Given the description of an element on the screen output the (x, y) to click on. 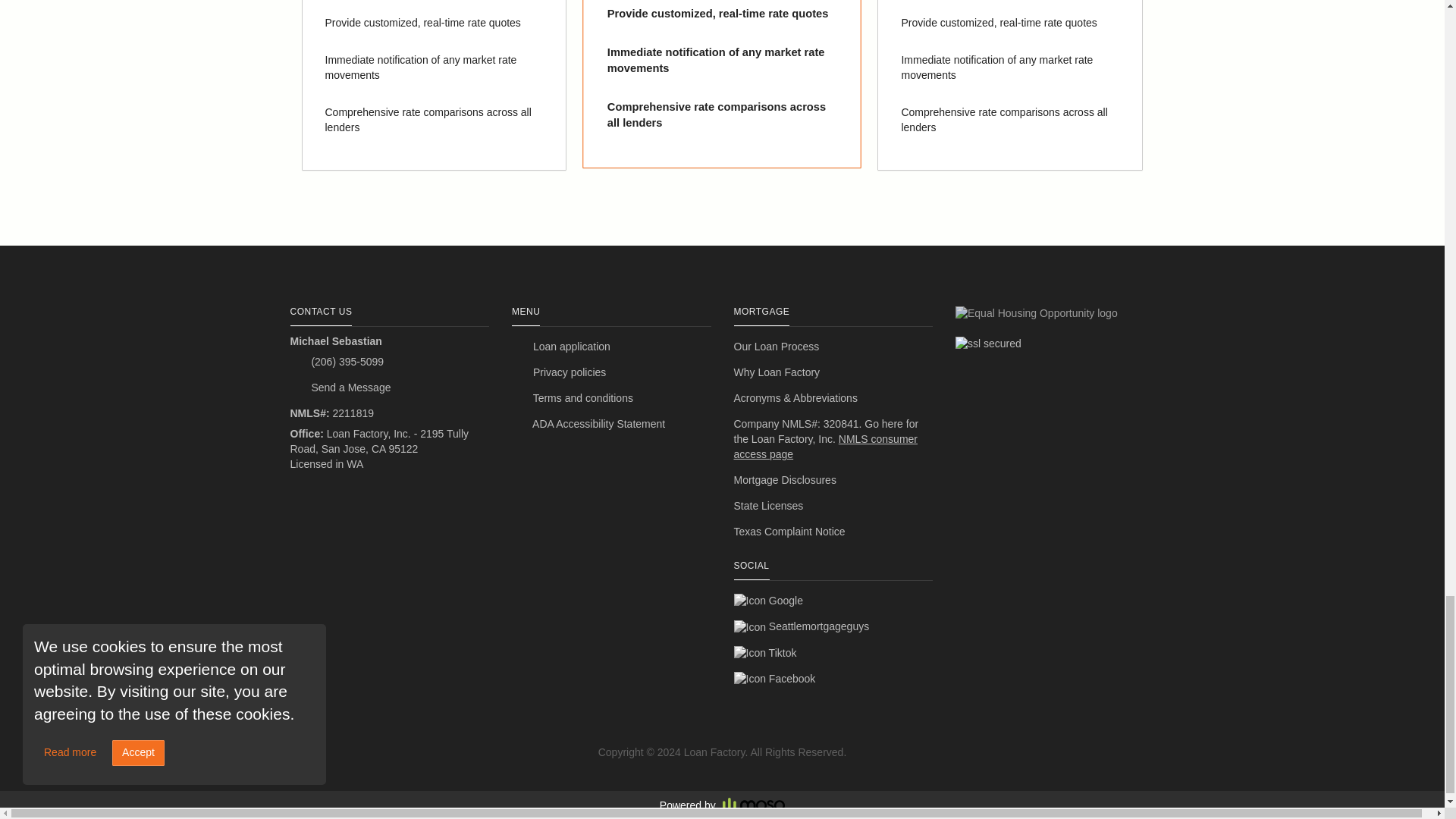
Loan application (611, 347)
ADA Accessibility Statement (611, 424)
Send a Message (389, 388)
Privacy policies (611, 372)
Terms and conditions (611, 398)
